Given the description of an element on the screen output the (x, y) to click on. 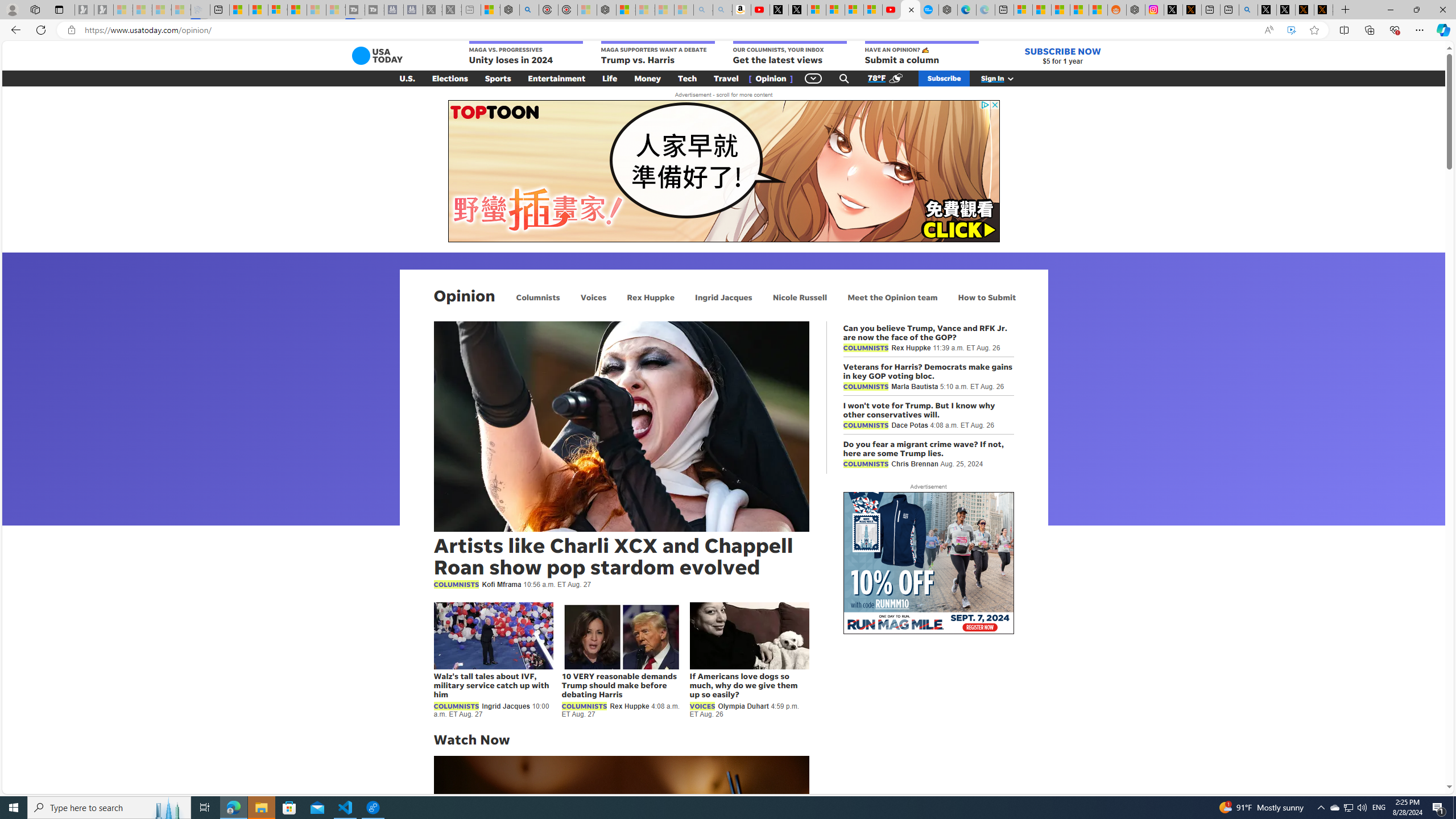
Microsoft Start - Sleeping (315, 9)
Meet the Opinion team (892, 296)
The most popular Google 'how to' searches (929, 9)
Subscribe (943, 78)
Day 1: Arriving in Yemen (surreal to be here) - YouTube (759, 9)
SUBSCRIBE NOW $5 for 1 year (1062, 55)
